Given the description of an element on the screen output the (x, y) to click on. 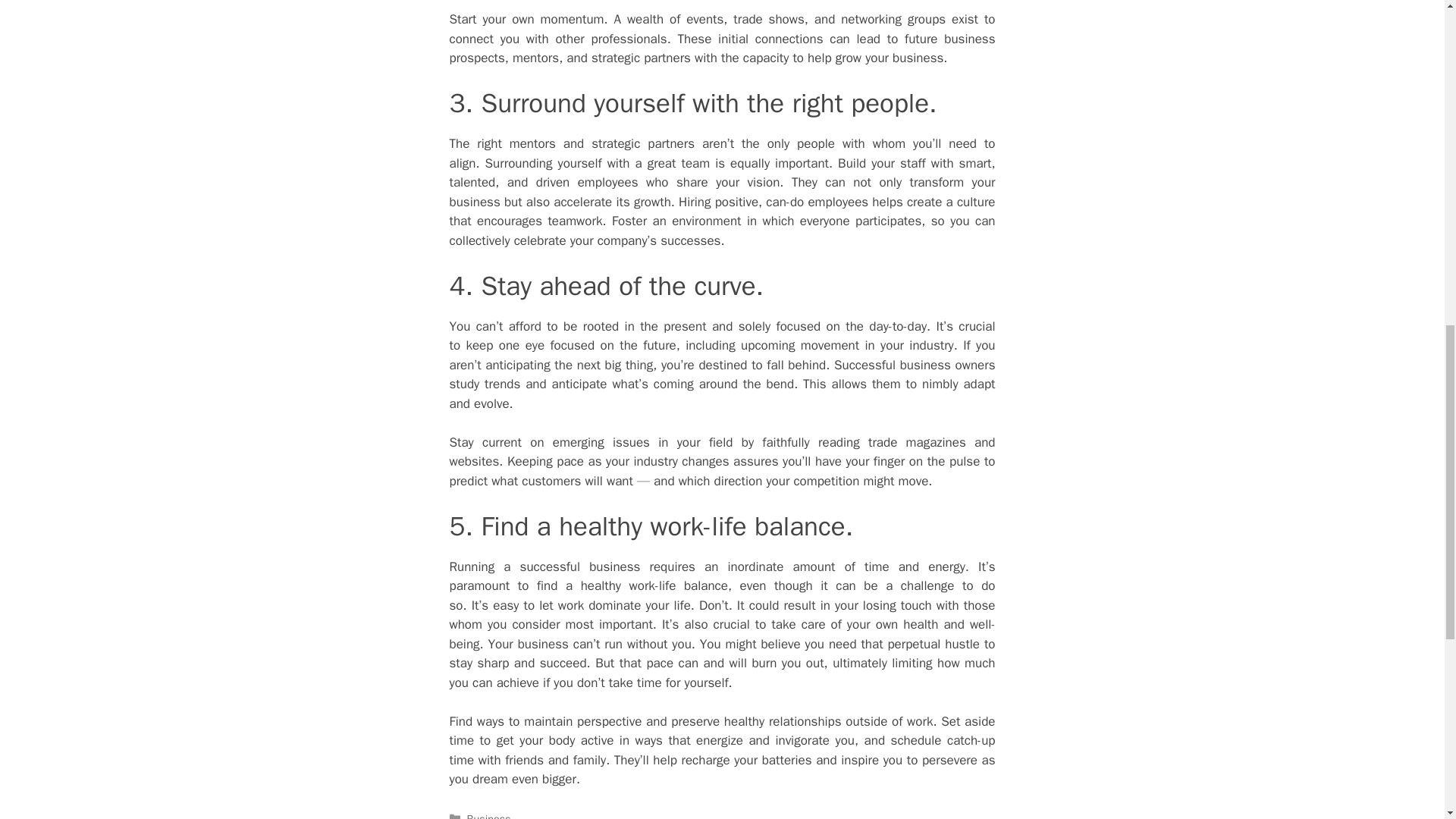
Business (489, 815)
